Given the description of an element on the screen output the (x, y) to click on. 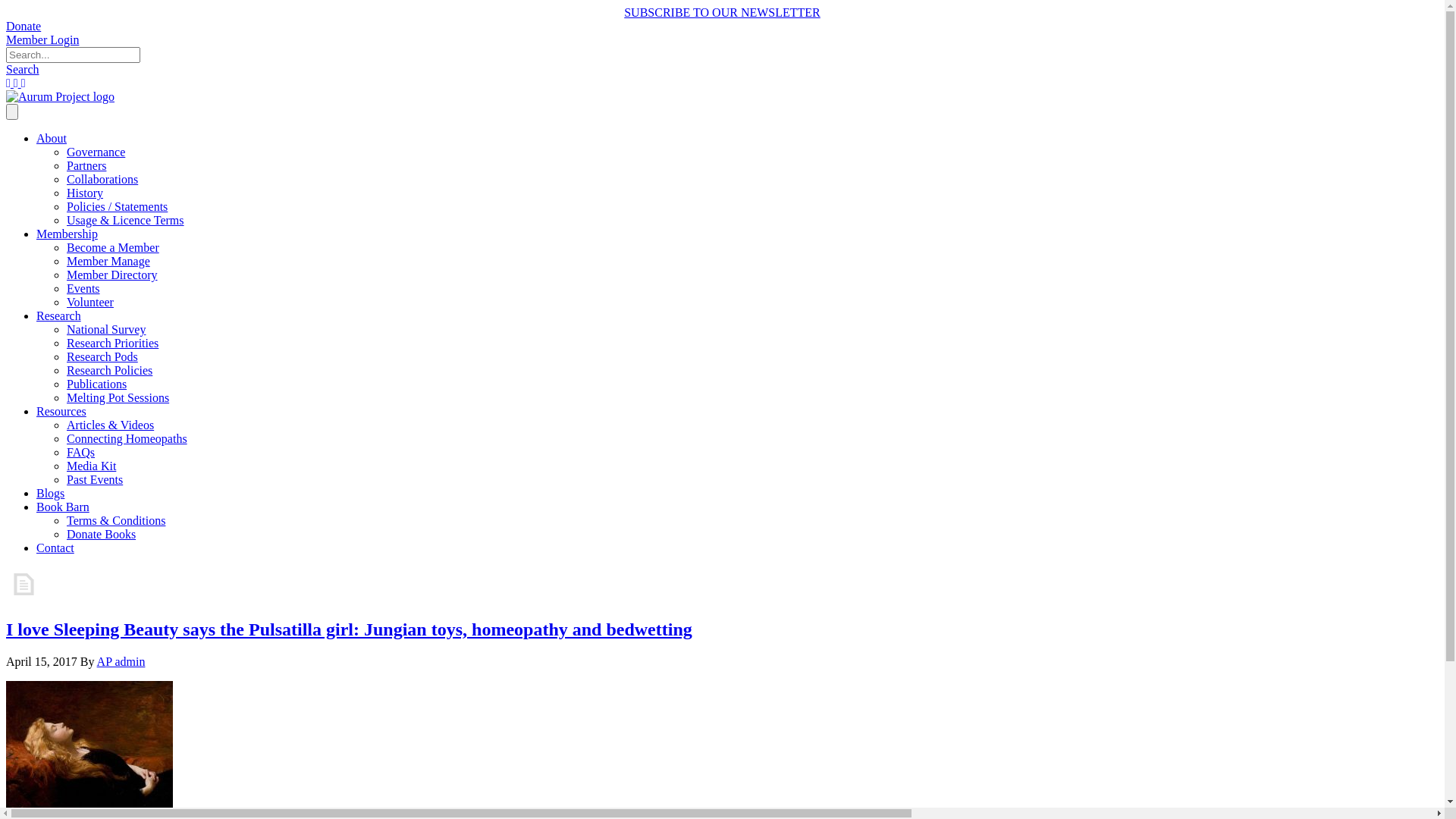
Member Login Element type: text (42, 39)
Melting Pot Sessions Element type: text (117, 397)
Publications Element type: text (96, 383)
Research Policies Element type: text (109, 370)
Terms & Conditions Element type: text (115, 520)
Usage & Licence Terms Element type: text (125, 219)
Events Element type: text (83, 288)
Donate Element type: text (23, 25)
Blogs Element type: text (50, 492)
Collaborations Element type: text (102, 178)
Past Events Element type: text (94, 479)
About Element type: text (51, 137)
SUBSCRIBE TO OUR NEWSLETTER Element type: text (722, 12)
Governance Element type: text (95, 151)
Final-Aurum-Logo-320x160 Element type: hover (60, 96)
Research Priorities Element type: text (112, 342)
AP admin Element type: text (121, 661)
Media Kit Element type: text (91, 465)
FAQs Element type: text (80, 451)
Volunteer Element type: text (89, 301)
Partners Element type: text (86, 165)
Donate Books Element type: text (100, 533)
Policies / Statements Element type: text (116, 206)
National Survey Element type: text (105, 329)
Member Directory Element type: text (111, 274)
Research Element type: text (58, 315)
Search Element type: text (22, 68)
Contact Element type: text (55, 547)
Membership Element type: text (66, 233)
Book Barn Element type: text (62, 506)
Become a Member Element type: text (112, 247)
Articles & Videos Element type: text (109, 424)
Connecting Homeopaths Element type: text (126, 438)
History Element type: text (84, 192)
Research Pods Element type: text (102, 356)
Member Manage Element type: text (108, 260)
Resources Element type: text (61, 410)
